Given the description of an element on the screen output the (x, y) to click on. 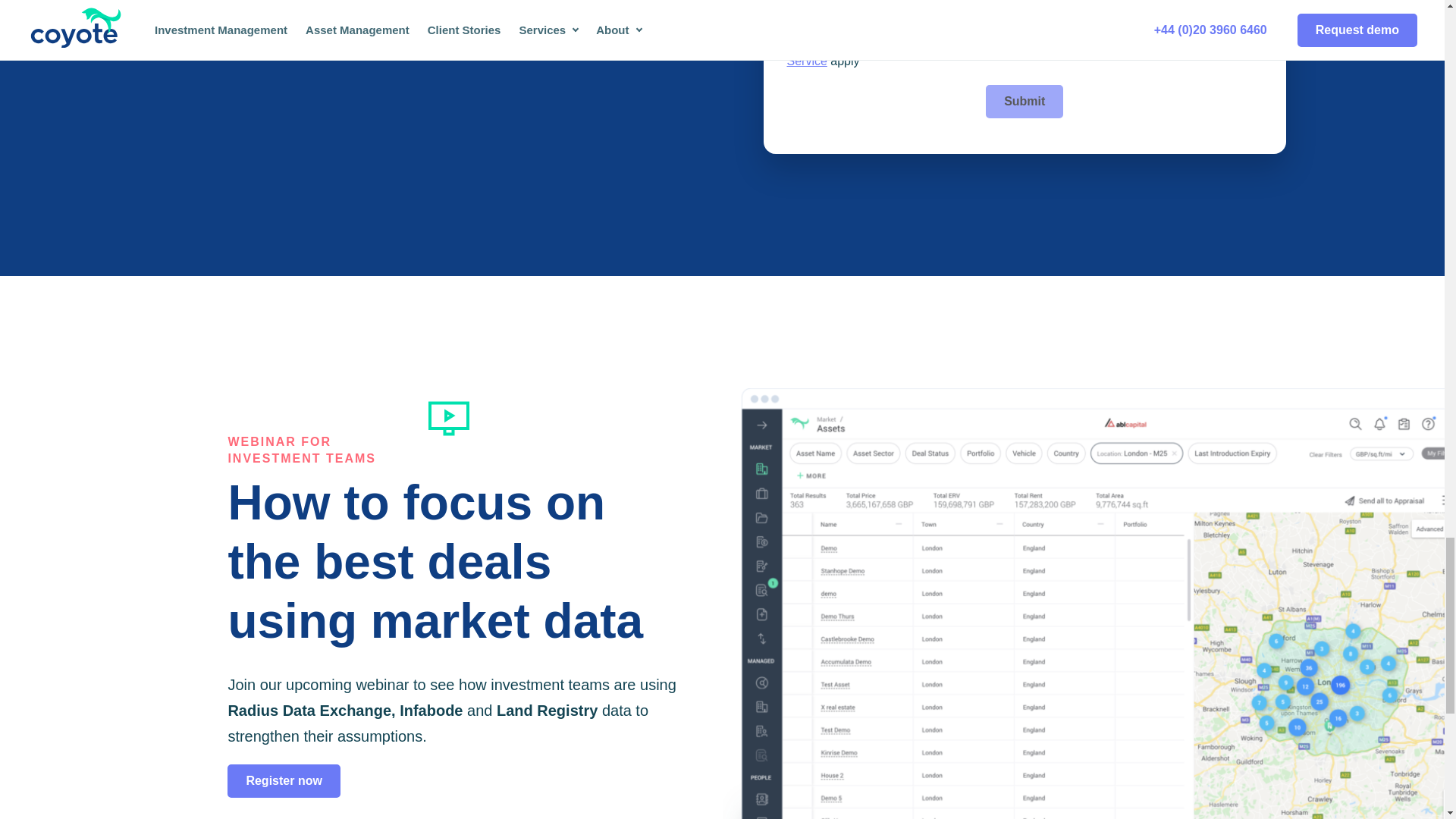
Submit (1023, 101)
Privacy Policy (841, 16)
Privacy Policy (1113, 47)
Terms of Service (1005, 53)
Submit (1023, 101)
